Given the description of an element on the screen output the (x, y) to click on. 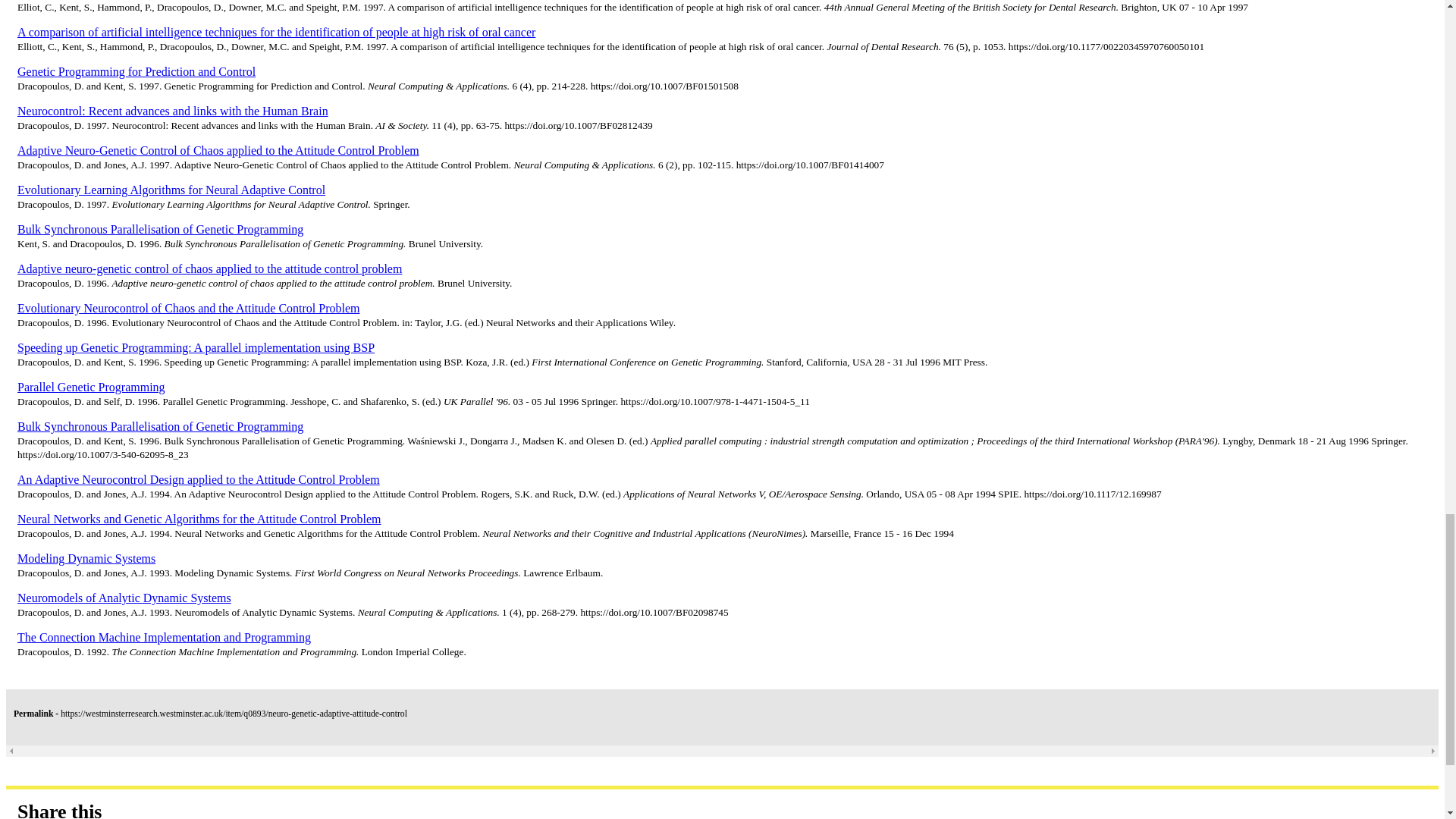
Genetic Programming for Prediction and Control (124, 84)
Evolutionary Learning Algorithms for Neural Adaptive Control (159, 203)
Neurocontrol: Recent advances and links with the Human Brain (161, 124)
